Given the description of an element on the screen output the (x, y) to click on. 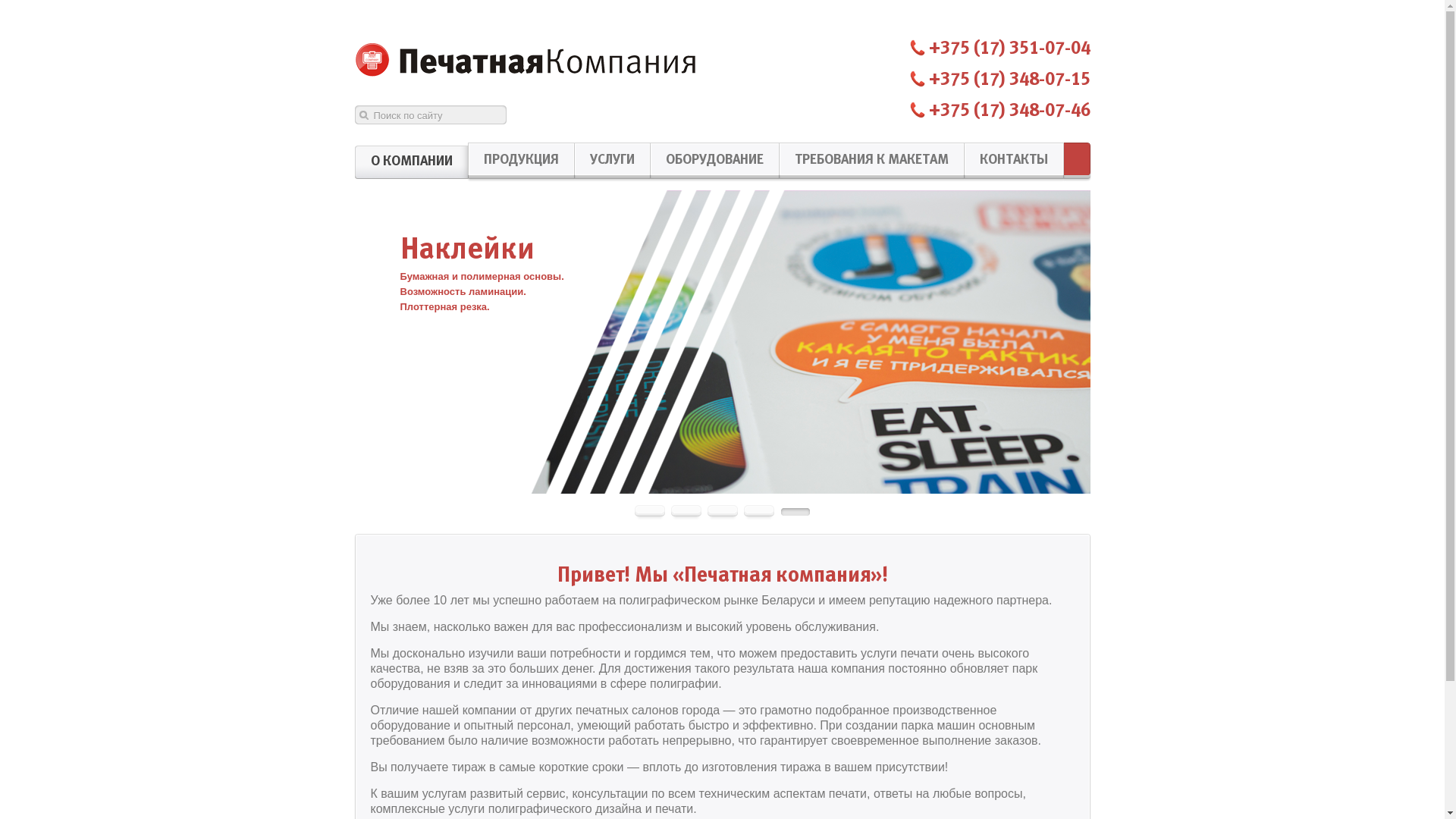
Reset Element type: text (3, 3)
